Given the description of an element on the screen output the (x, y) to click on. 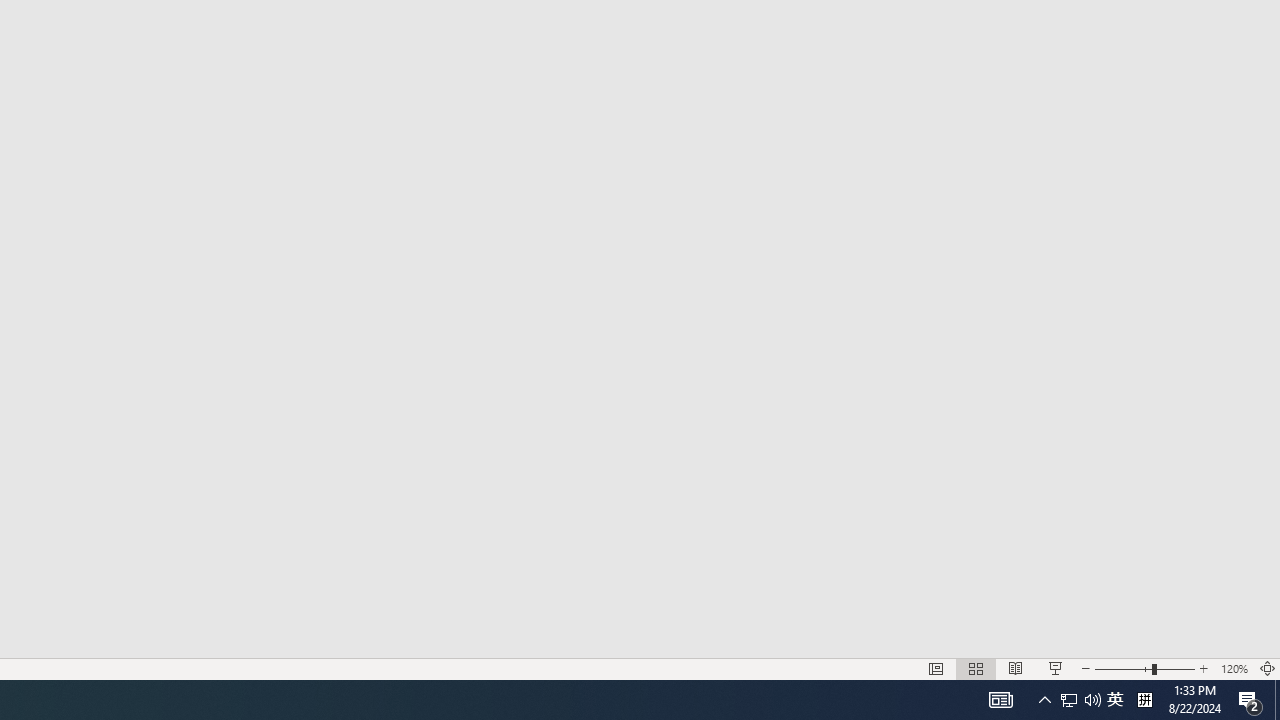
Zoom 120% (1234, 668)
